Given the description of an element on the screen output the (x, y) to click on. 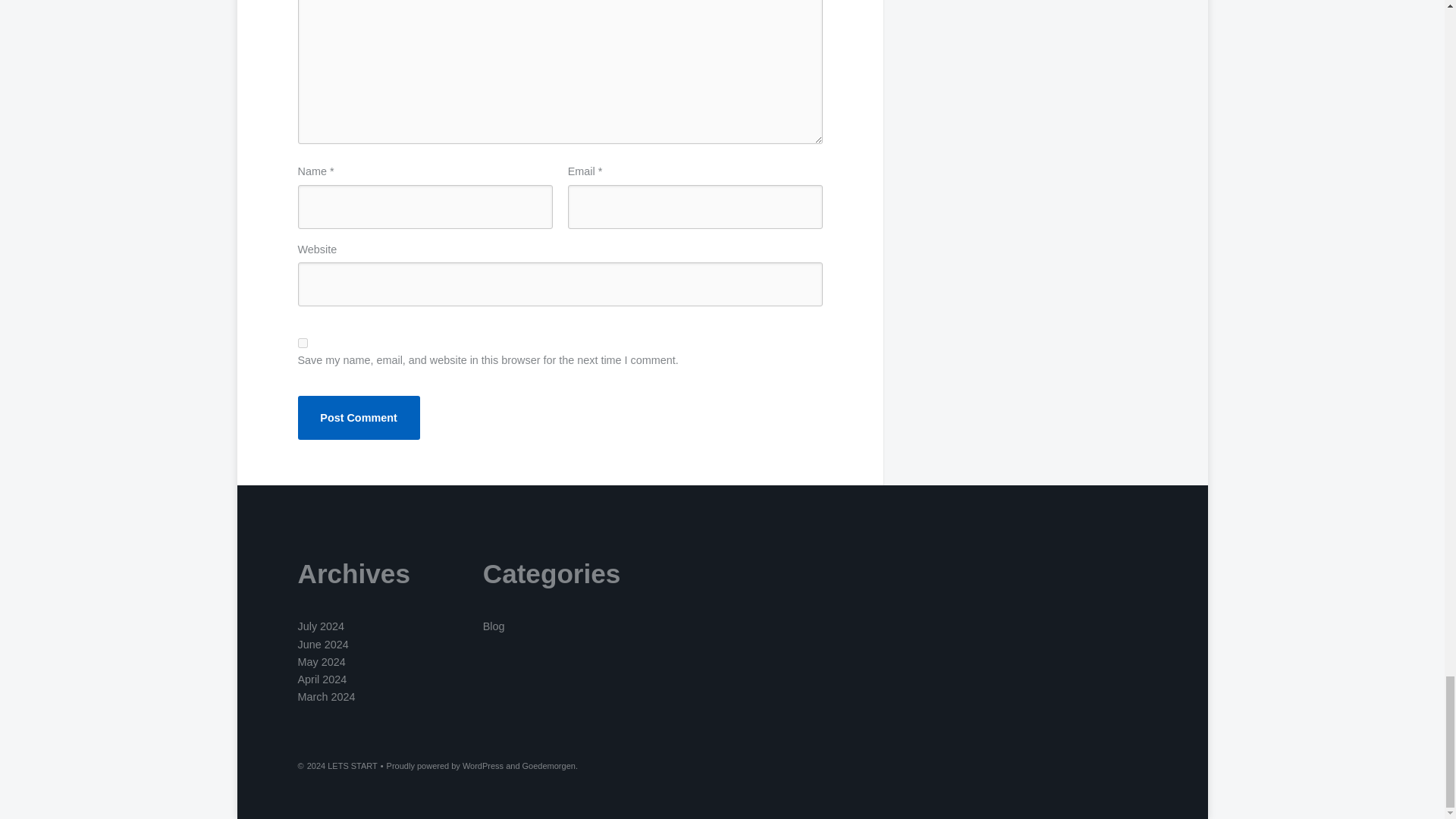
yes (302, 343)
Post Comment (358, 417)
Post Comment (358, 417)
